Given the description of an element on the screen output the (x, y) to click on. 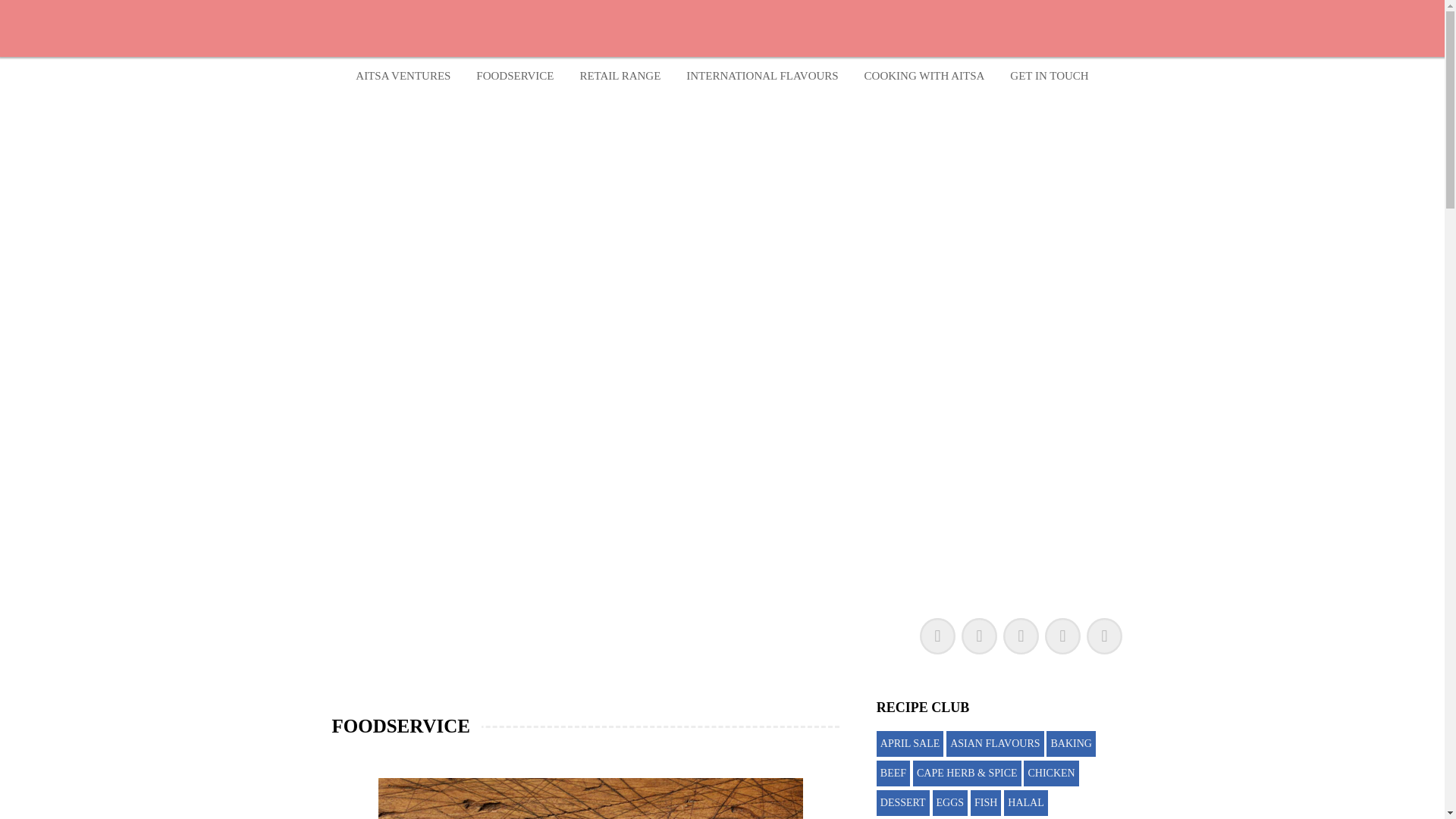
REDESPRESSO (666, 103)
HALAL (1025, 802)
GET IN TOUCH (1048, 75)
INA PAARMAN (650, 103)
INTERNATIONAL FLAVOURS (761, 75)
BAKING (1070, 743)
SALLY WILLIAMS NOUGAT (670, 111)
AITSA VENTURES (402, 75)
ASIAN FLAVOURS (994, 743)
APRIL SALE (909, 743)
